Given the description of an element on the screen output the (x, y) to click on. 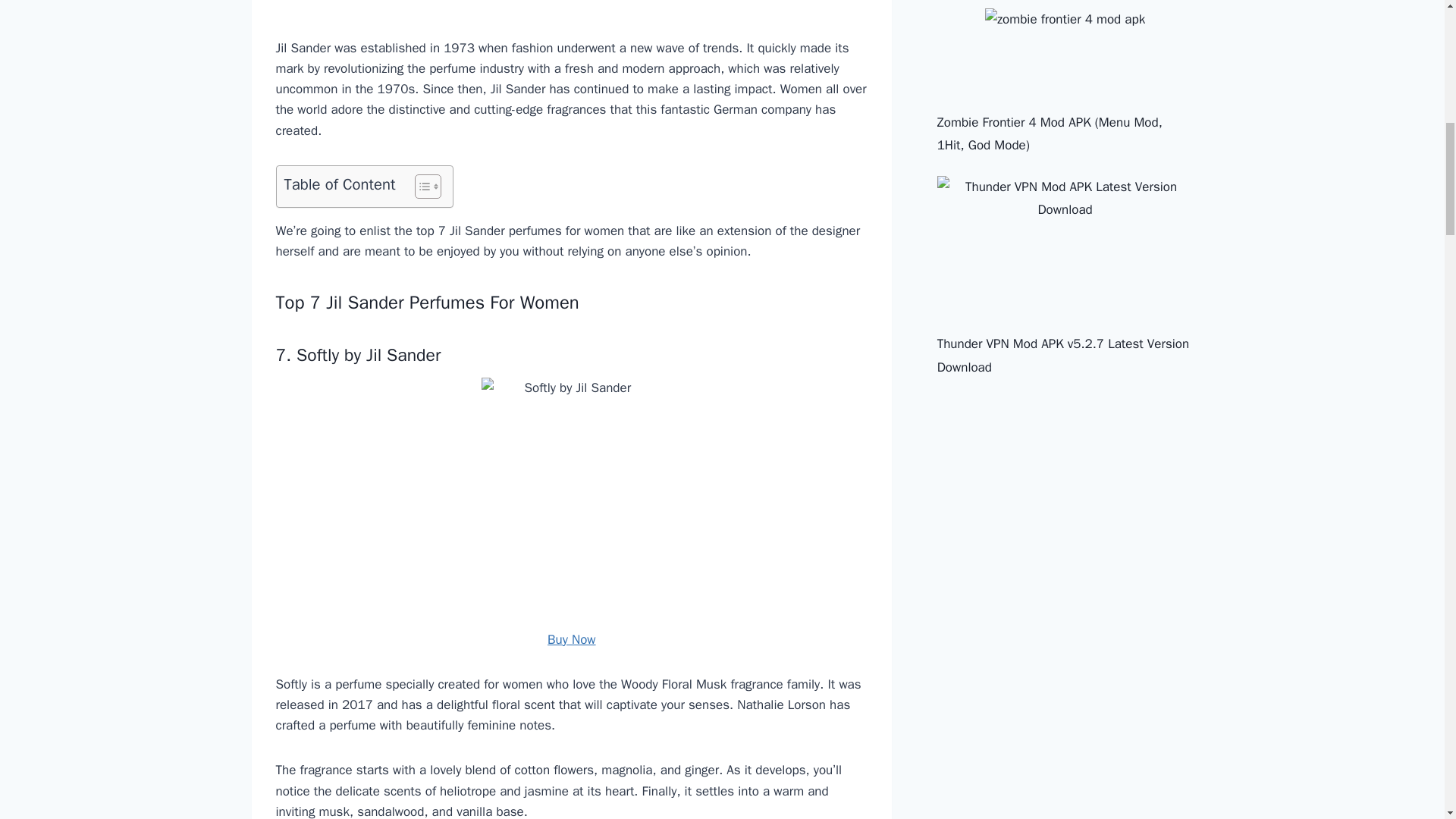
Buy Now (571, 639)
